Given the description of an element on the screen output the (x, y) to click on. 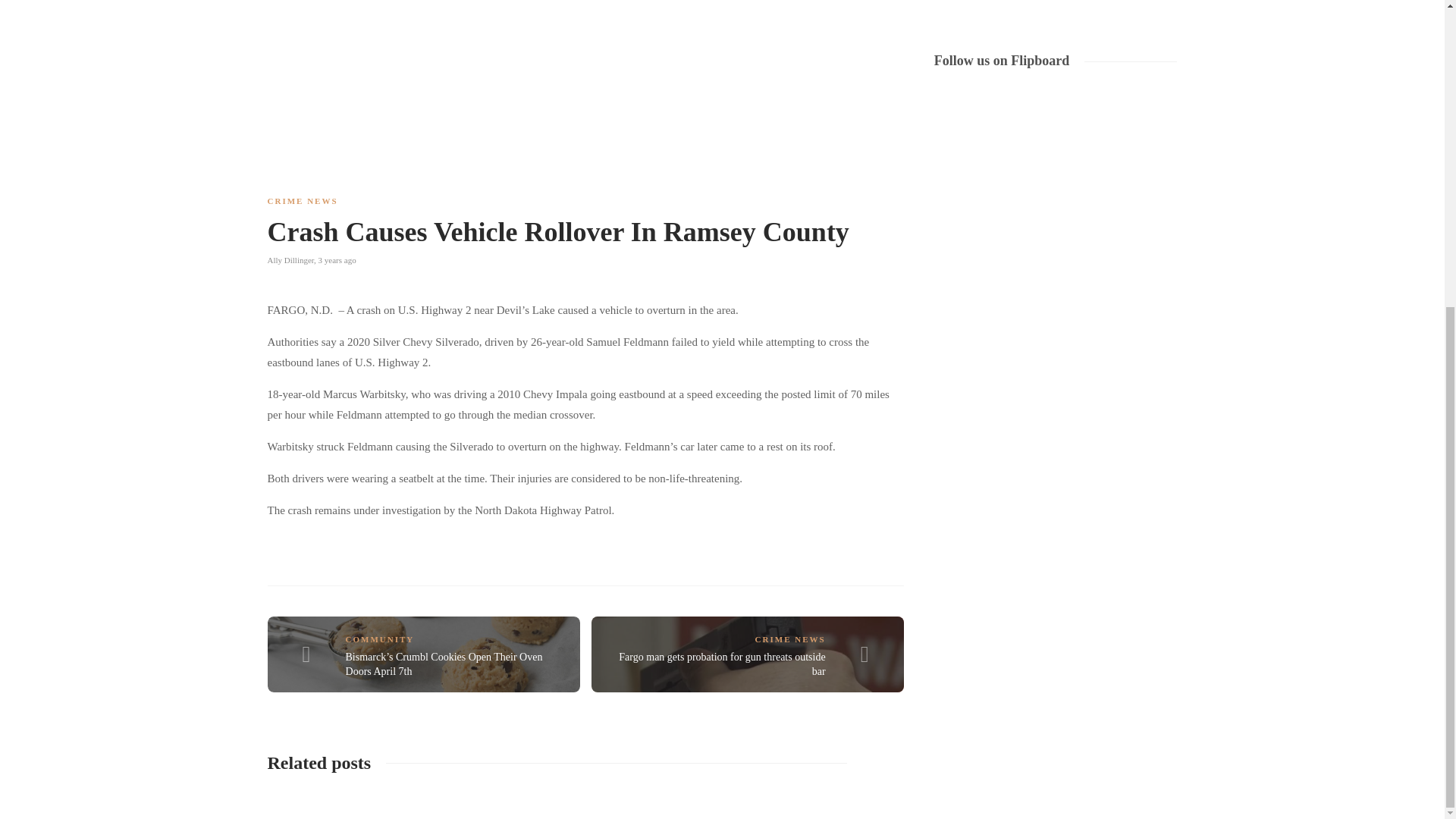
CRIME NEWS (301, 200)
CRIME NEWS (790, 638)
Ally Dillinger (290, 259)
Fargo man gets probation for gun threats outside bar (721, 664)
COMMUNITY (380, 638)
3 years ago (337, 259)
Crash Causes Vehicle Rollover In Ramsey County (573, 235)
